Given the description of an element on the screen output the (x, y) to click on. 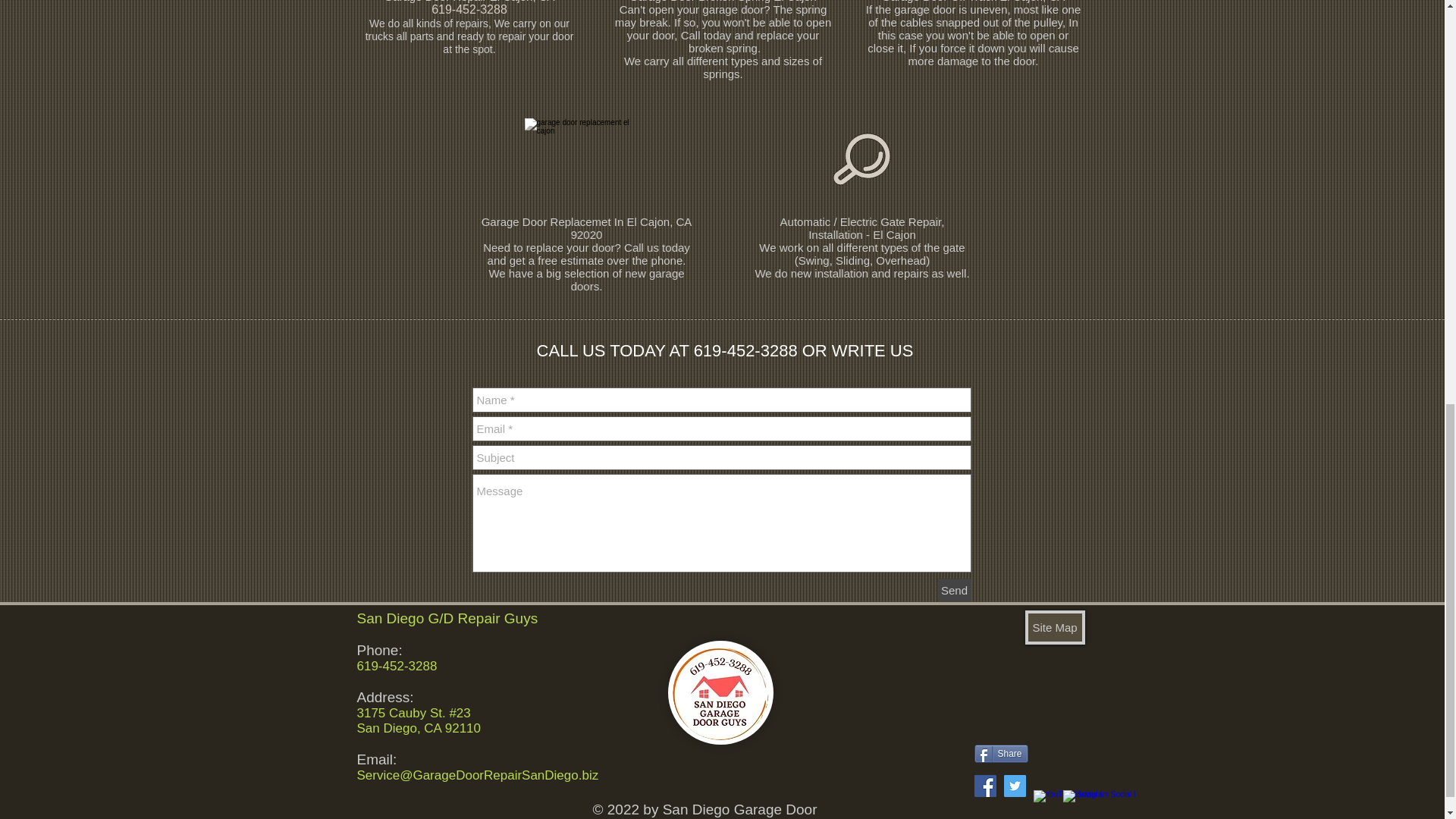
Send (954, 589)
Share (1000, 753)
Garage Door Replacement in El Cajun CA (585, 163)
Share (1000, 753)
Garage Door Replacemet (546, 221)
Garage Door Broken Spring (699, 1)
VK Share (1015, 730)
Site Map (1054, 627)
Garage Door Repair (435, 1)
Facebook Like (1065, 747)
Logo - San Diego Garage Door Guys (719, 692)
